Given the description of an element on the screen output the (x, y) to click on. 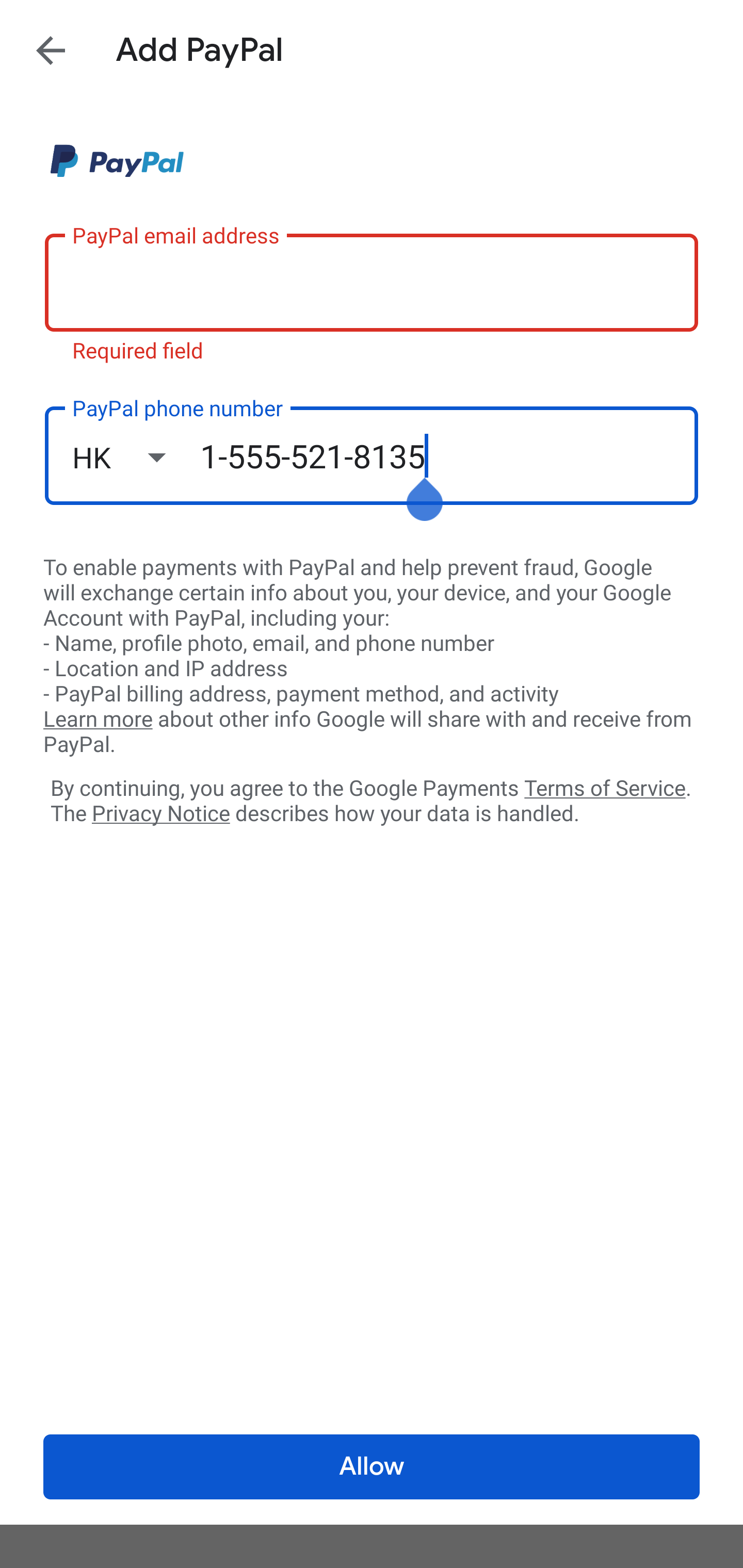
Navigate up (50, 50)
HK (135, 456)
Learn more (97, 719)
Terms of Service (604, 787)
Privacy Notice (160, 814)
Allow (371, 1466)
